Given the description of an element on the screen output the (x, y) to click on. 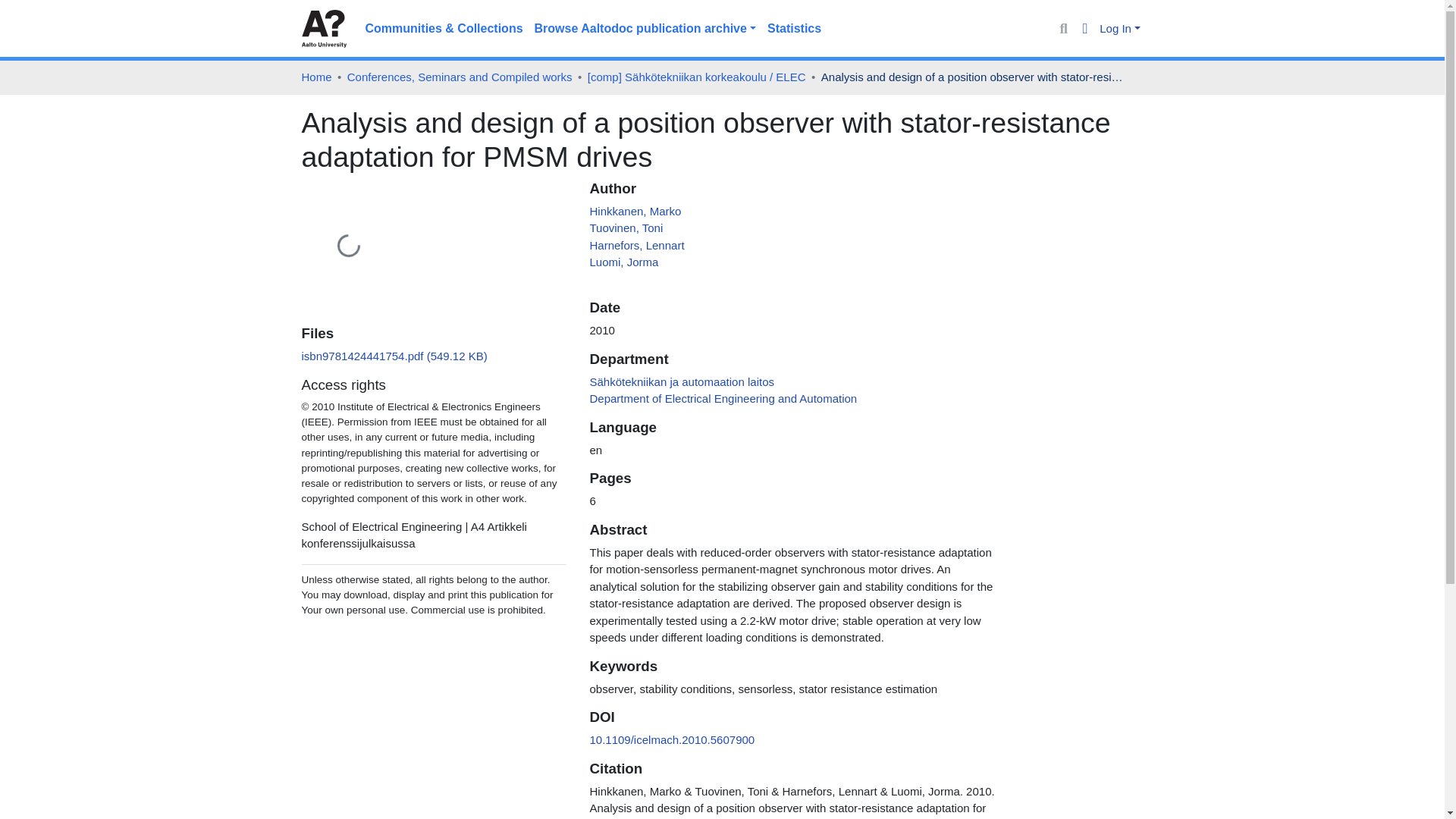
Language switch (1085, 28)
Harnefors, Lennart (636, 244)
Statistics (794, 28)
Log In (1119, 28)
Home (316, 77)
Search (1063, 28)
Department of Electrical Engineering and Automation (723, 398)
Hinkkanen, Marko (635, 210)
Conferences, Seminars and Compiled works (459, 77)
Statistics (794, 28)
